Given the description of an element on the screen output the (x, y) to click on. 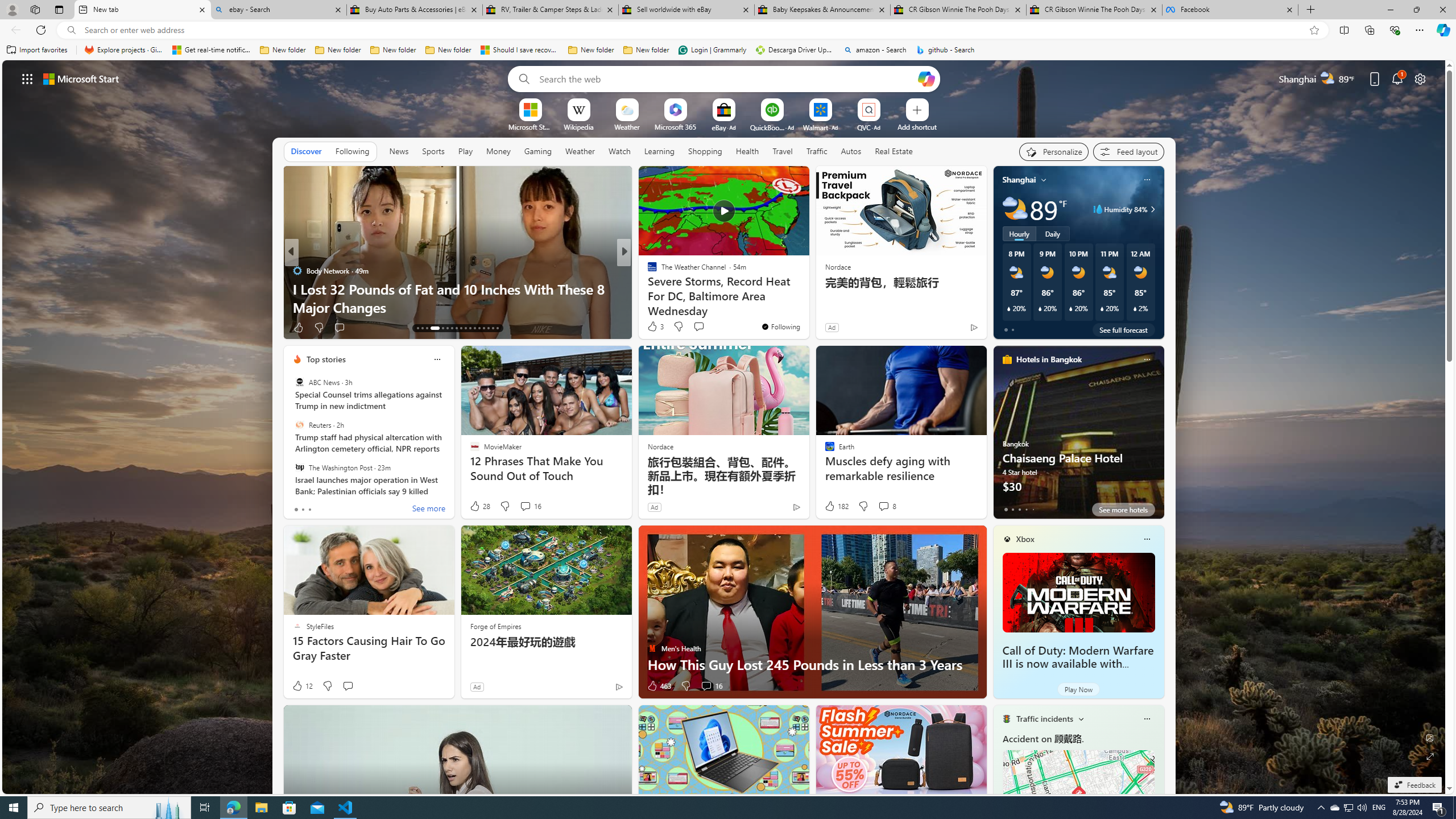
Dislike (685, 685)
ABC News (299, 382)
The Independent (296, 270)
Import favorites (36, 49)
Page settings (1420, 78)
3 Like (655, 326)
Watch (619, 151)
Hotels in Bangkok (1048, 359)
Start the conversation (347, 685)
